Given the description of an element on the screen output the (x, y) to click on. 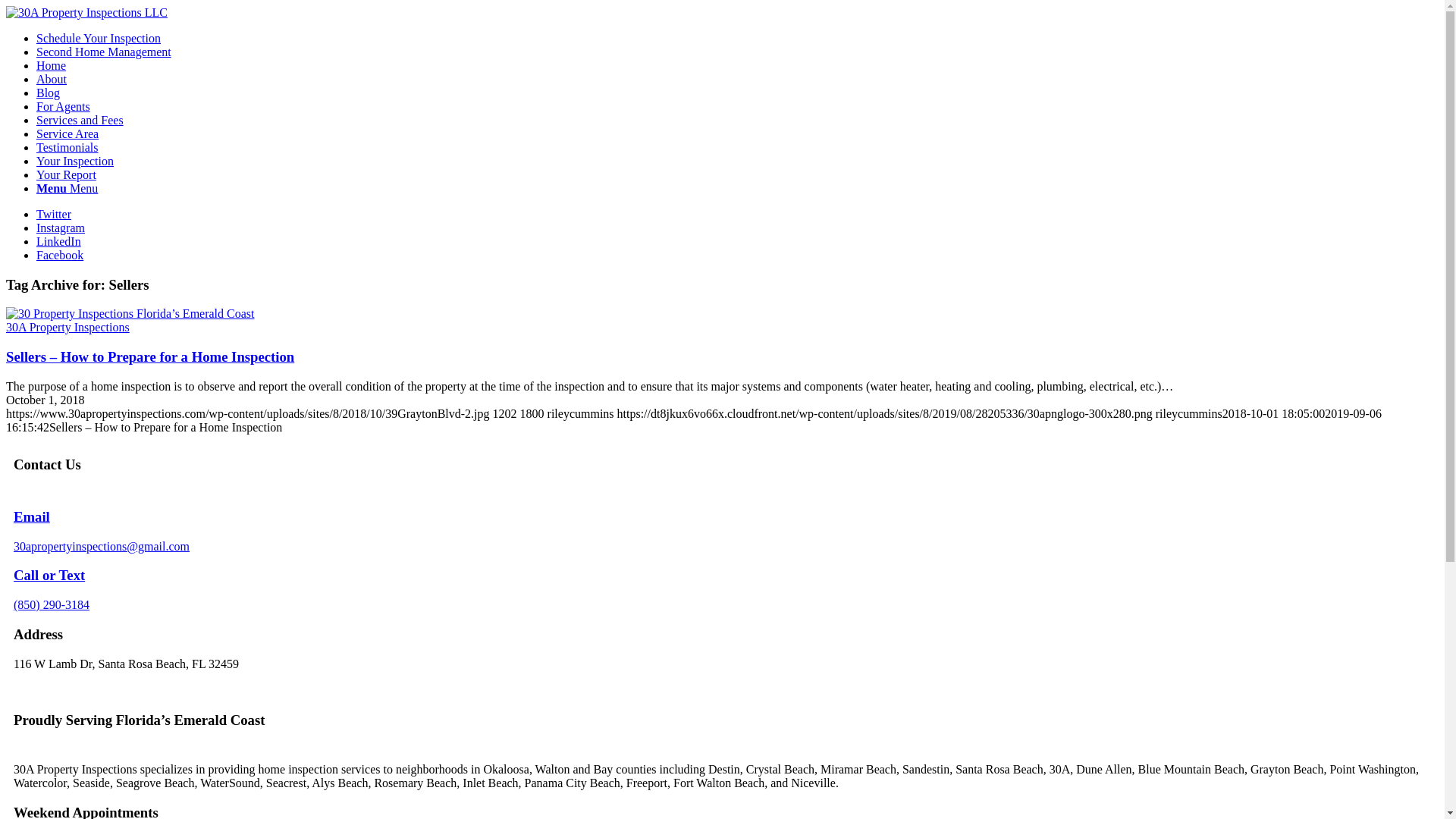
(850) 290-3184 Element type: text (51, 604)
30A Property Inspections Element type: text (67, 326)
About Element type: text (51, 78)
Twitter Element type: text (53, 213)
Testimonials Element type: text (67, 147)
Services and Fees Element type: text (79, 119)
Your Inspection Element type: text (74, 160)
Schedule Your Inspection Element type: text (98, 37)
Service Area Element type: text (67, 133)
Instagram Element type: text (60, 227)
Menu Menu Element type: text (66, 188)
Your Report Element type: text (66, 174)
Email Element type: text (31, 516)
Second Home Management Element type: text (103, 51)
Blog Element type: text (47, 92)
Call or Text Element type: text (48, 575)
For Agents Element type: text (63, 106)
Facebook Element type: text (59, 254)
Home Element type: text (50, 65)
LinkedIn Element type: text (58, 241)
30apropertyinspections@gmail.com Element type: text (101, 545)
30A Logo Element type: hover (86, 12)
